Given the description of an element on the screen output the (x, y) to click on. 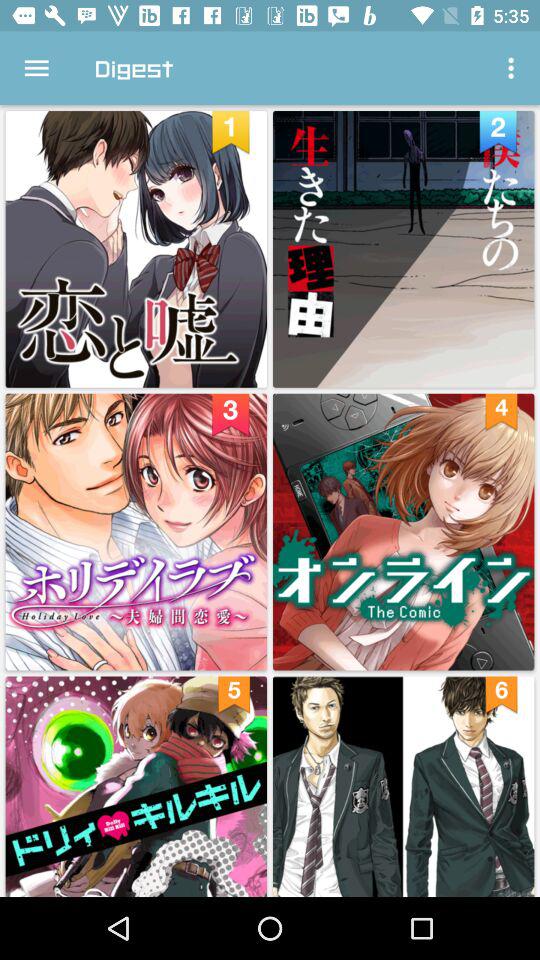
press icon to the left of digest item (36, 68)
